Given the description of an element on the screen output the (x, y) to click on. 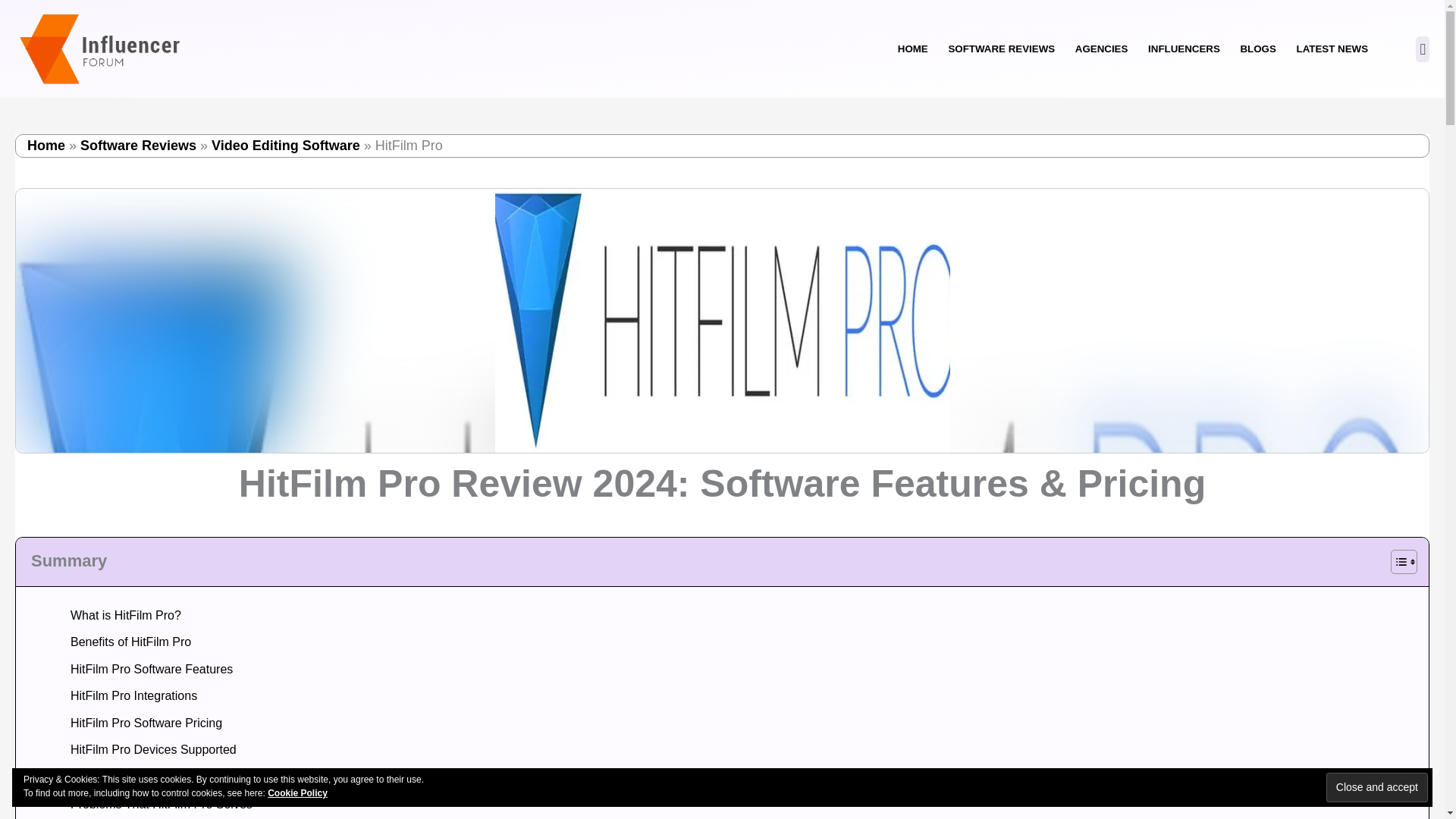
SOFTWARE REVIEWS (1000, 48)
HitFilm Pro Integrations (127, 696)
Problems That HitFilm Pro Solves (155, 804)
HitFilm Pro Devices Supported (148, 749)
AGENCIES (1100, 48)
Close and accept (1377, 787)
HitFilm Pro Prominent Customers (154, 777)
HitFilm Pro Software Pricing (140, 723)
LATEST NEWS (1331, 48)
Benefits of HitFilm Pro (124, 642)
HitFilm Pro Software Features (145, 669)
HOME (911, 48)
BLOGS (1257, 48)
